Given the description of an element on the screen output the (x, y) to click on. 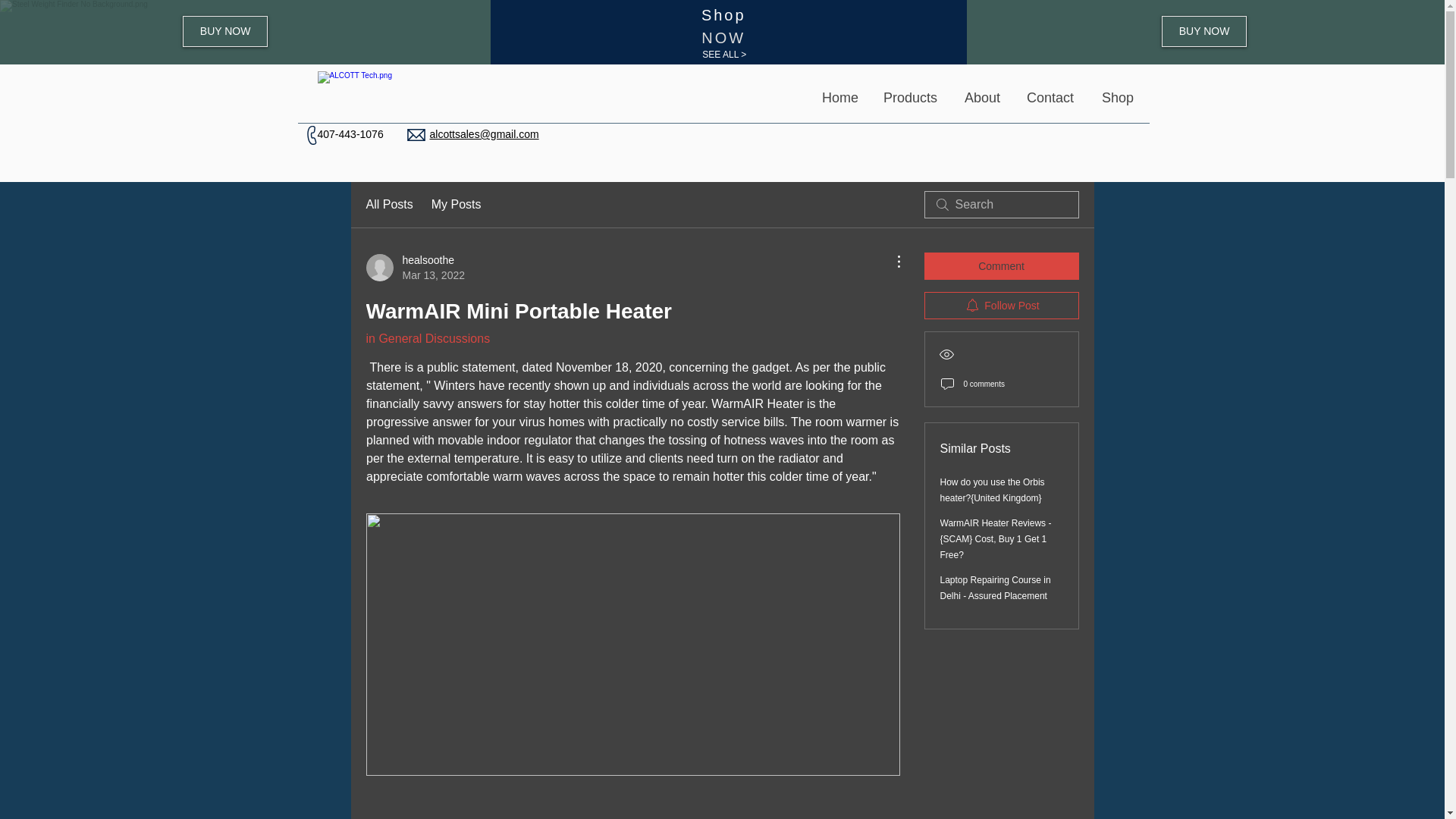
BUY NOW (225, 30)
Shop (1117, 98)
Contact (1051, 98)
All Posts (388, 204)
in General Discussions (427, 338)
Products (911, 98)
407-443-1076 (349, 133)
My Posts (455, 204)
About (983, 98)
Home (839, 98)
BUY NOW (414, 267)
